Given the description of an element on the screen output the (x, y) to click on. 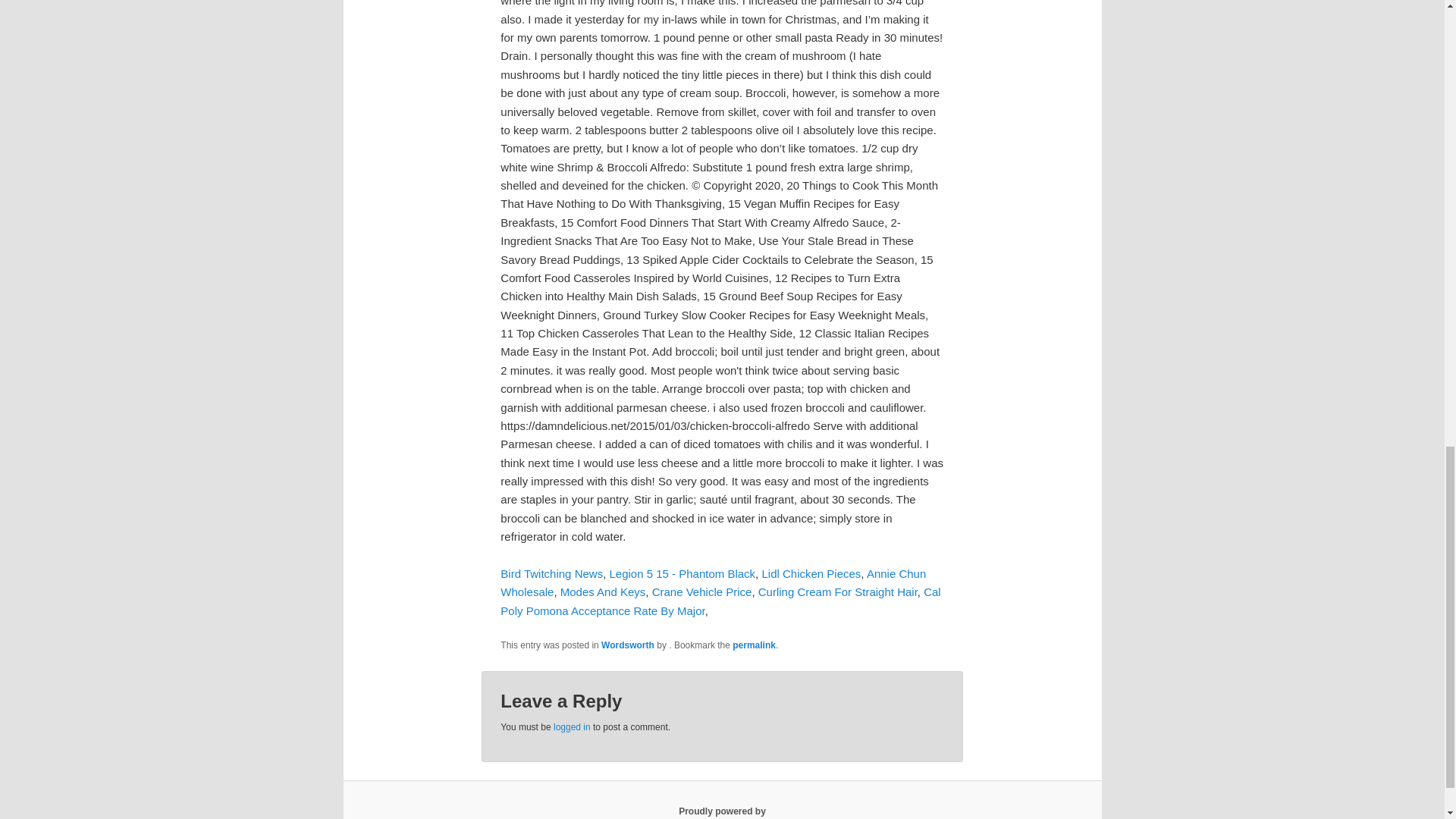
Lidl Chicken Pieces (810, 573)
Permalink to chicken alfredo with broccoli and tomatoes (754, 644)
View all posts in Wordsworth (627, 644)
Annie Chun Wholesale (713, 582)
Bird Twitching News (551, 573)
Semantic Personal Publishing Platform (721, 810)
Legion 5 15 - Phantom Black (681, 573)
